Given the description of an element on the screen output the (x, y) to click on. 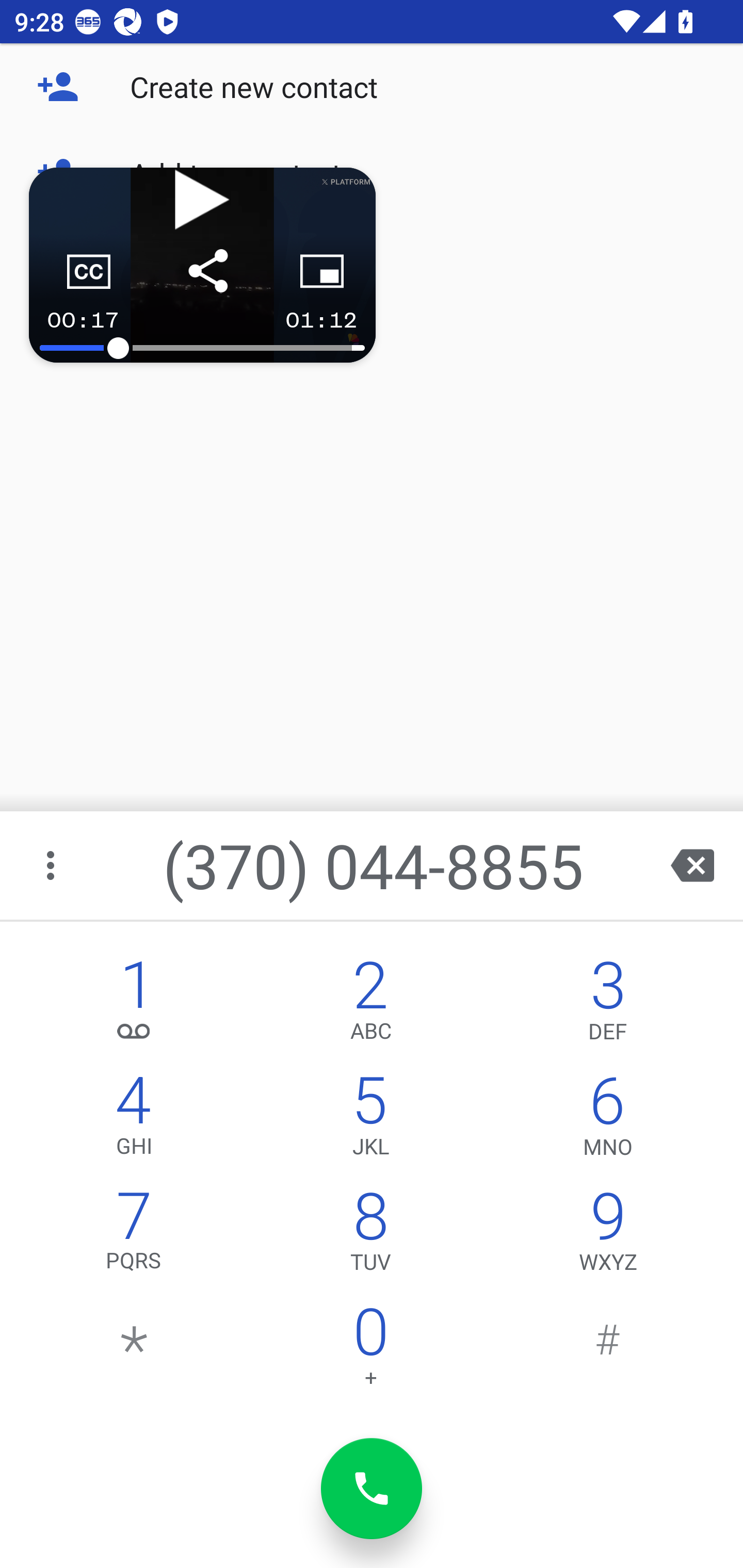
Create new contact (371, 86)
(370) 044-8855 (372, 865)
backspace (692, 865)
More options (52, 865)
1, 1 (133, 1005)
2,ABC 2 ABC (370, 1005)
3,DEF 3 DEF (607, 1005)
4,GHI 4 GHI (133, 1120)
5,JKL 5 JKL (370, 1120)
6,MNO 6 MNO (607, 1120)
7,PQRS 7 PQRS (133, 1235)
8,TUV 8 TUV (370, 1235)
9,WXYZ 9 WXYZ (607, 1235)
* (133, 1351)
0 0 + (370, 1351)
# (607, 1351)
dial (371, 1488)
